Given the description of an element on the screen output the (x, y) to click on. 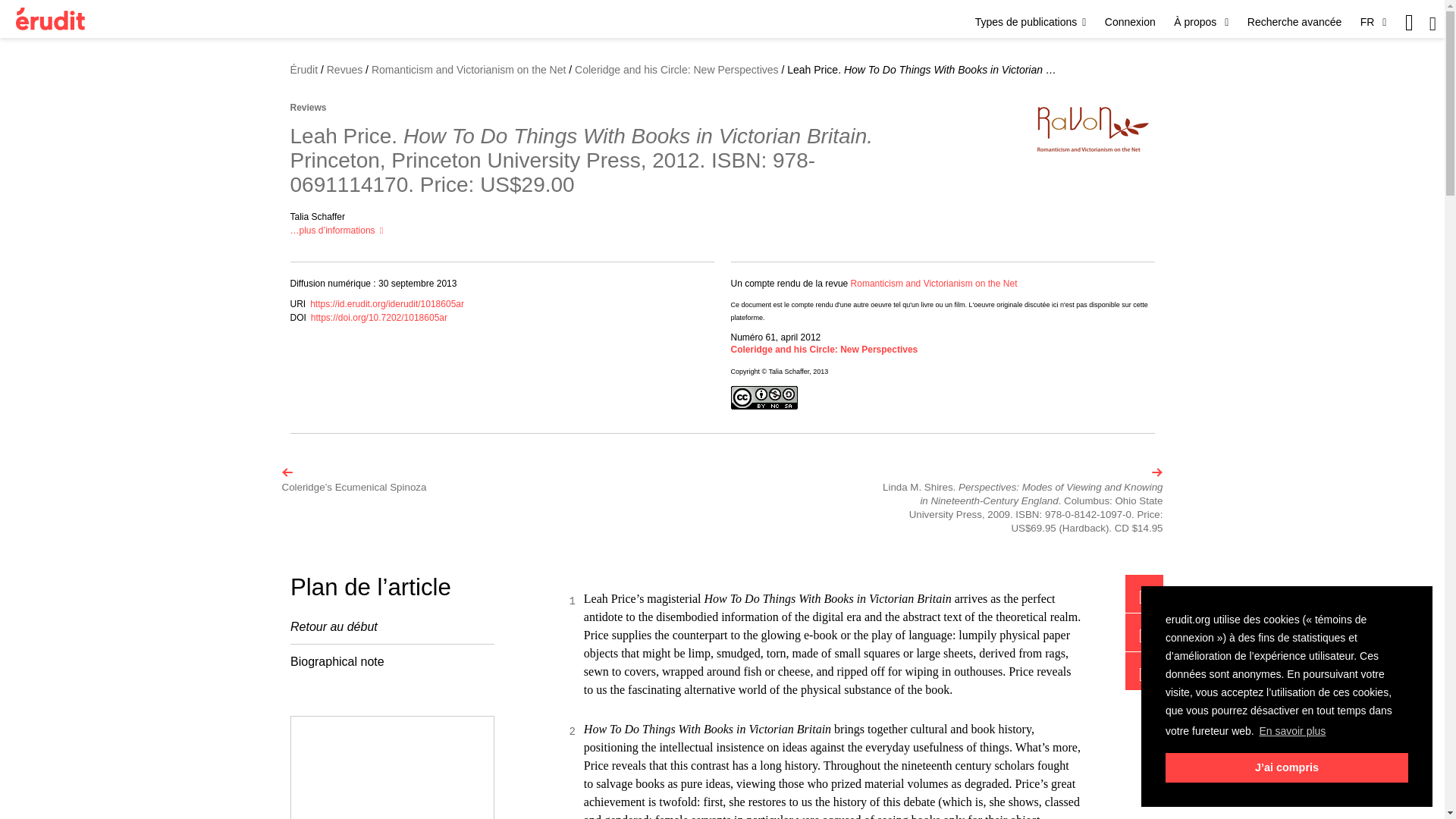
Types de publications (1030, 21)
Romanticism and Victorianism on the Net (468, 69)
Coleridge and his Circle: New Perspectives (677, 69)
Rapport annuel 2022-2023 (392, 767)
Se connecter au tableau de bord (1130, 21)
En savoir plus (1292, 730)
Article suivant (1021, 500)
Coleridge and his Circle: New Perspectives (824, 348)
Biographical note (391, 661)
Revues (344, 69)
